Given the description of an element on the screen output the (x, y) to click on. 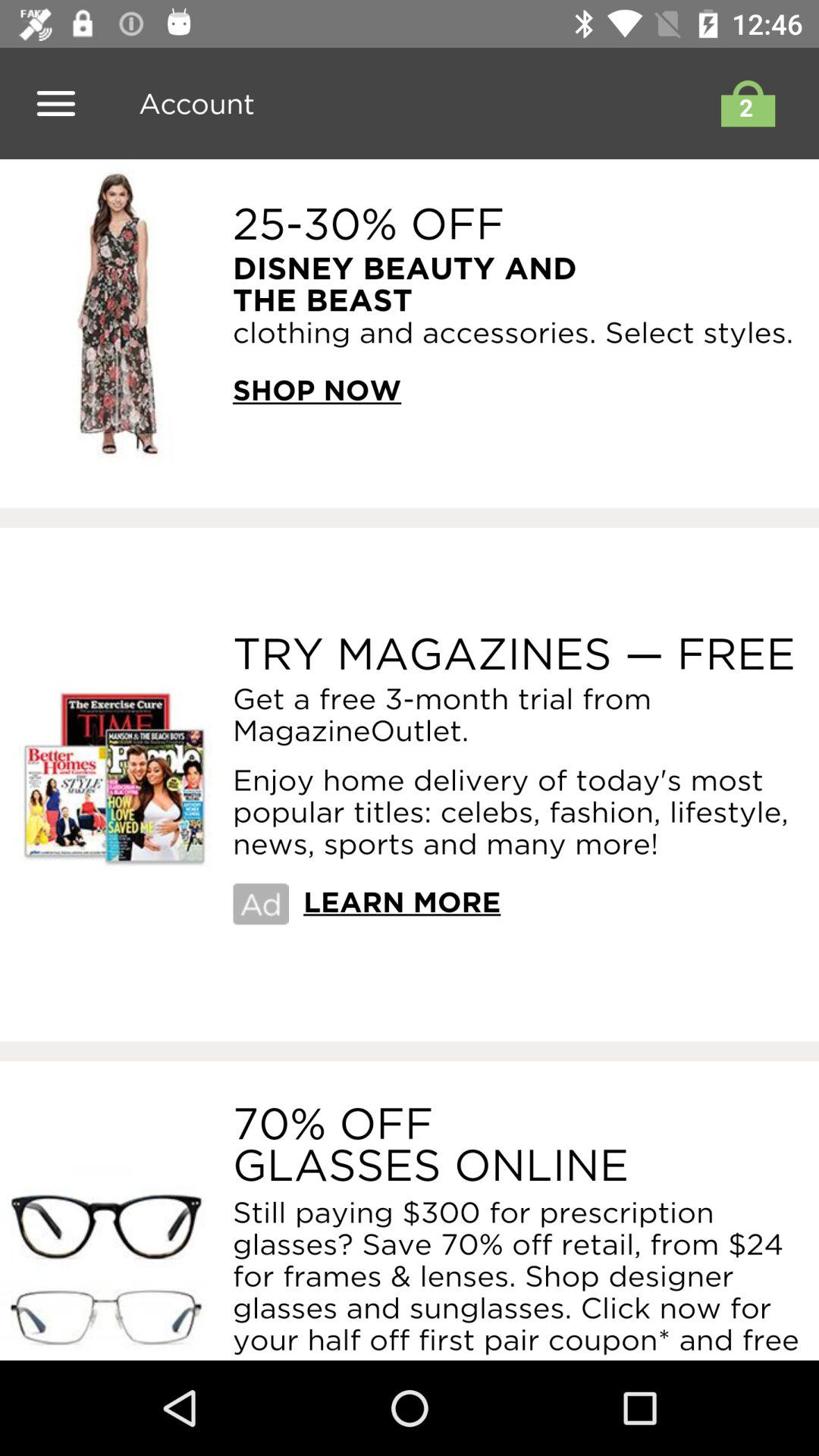
go to cart (744, 103)
